Given the description of an element on the screen output the (x, y) to click on. 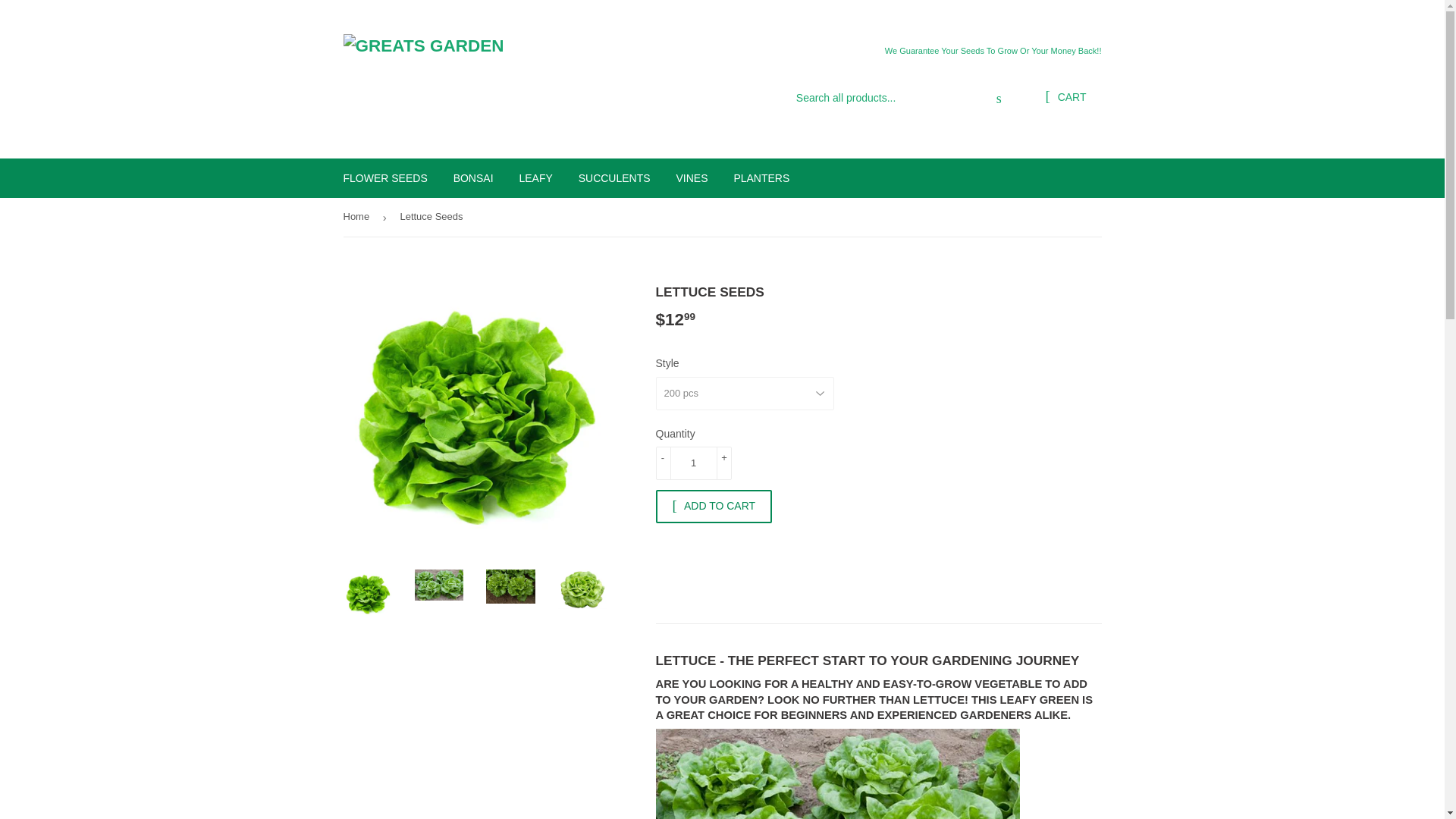
VINES (691, 178)
SUCCULENTS (614, 178)
1 (692, 462)
ADD TO CART (713, 506)
CART (1064, 97)
Search (998, 98)
BONSAI (473, 178)
FLOWER SEEDS (385, 178)
PLANTERS (761, 178)
LEAFY (534, 178)
